Given the description of an element on the screen output the (x, y) to click on. 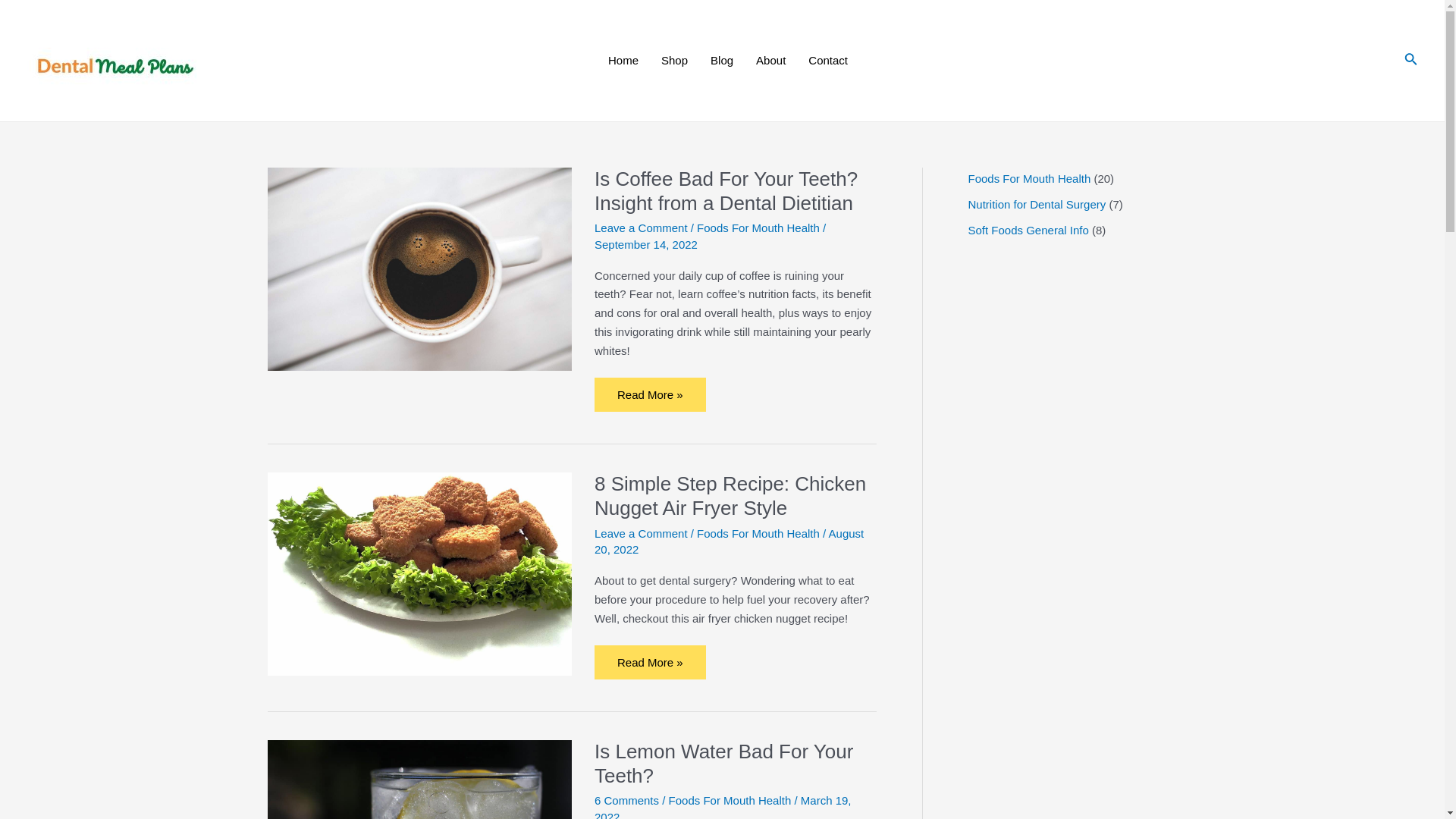
8 Simple Step Recipe: Chicken Nugget Air Fryer Style (730, 495)
Foods For Mouth Health (758, 227)
Shop (673, 60)
Leave a Comment (640, 532)
Contact (821, 60)
Is Lemon Water Bad For Your Teeth? (723, 763)
About (770, 60)
6 Comments (626, 799)
Foods For Mouth Health (758, 532)
Leave a Comment (640, 227)
Home (622, 60)
